Given the description of an element on the screen output the (x, y) to click on. 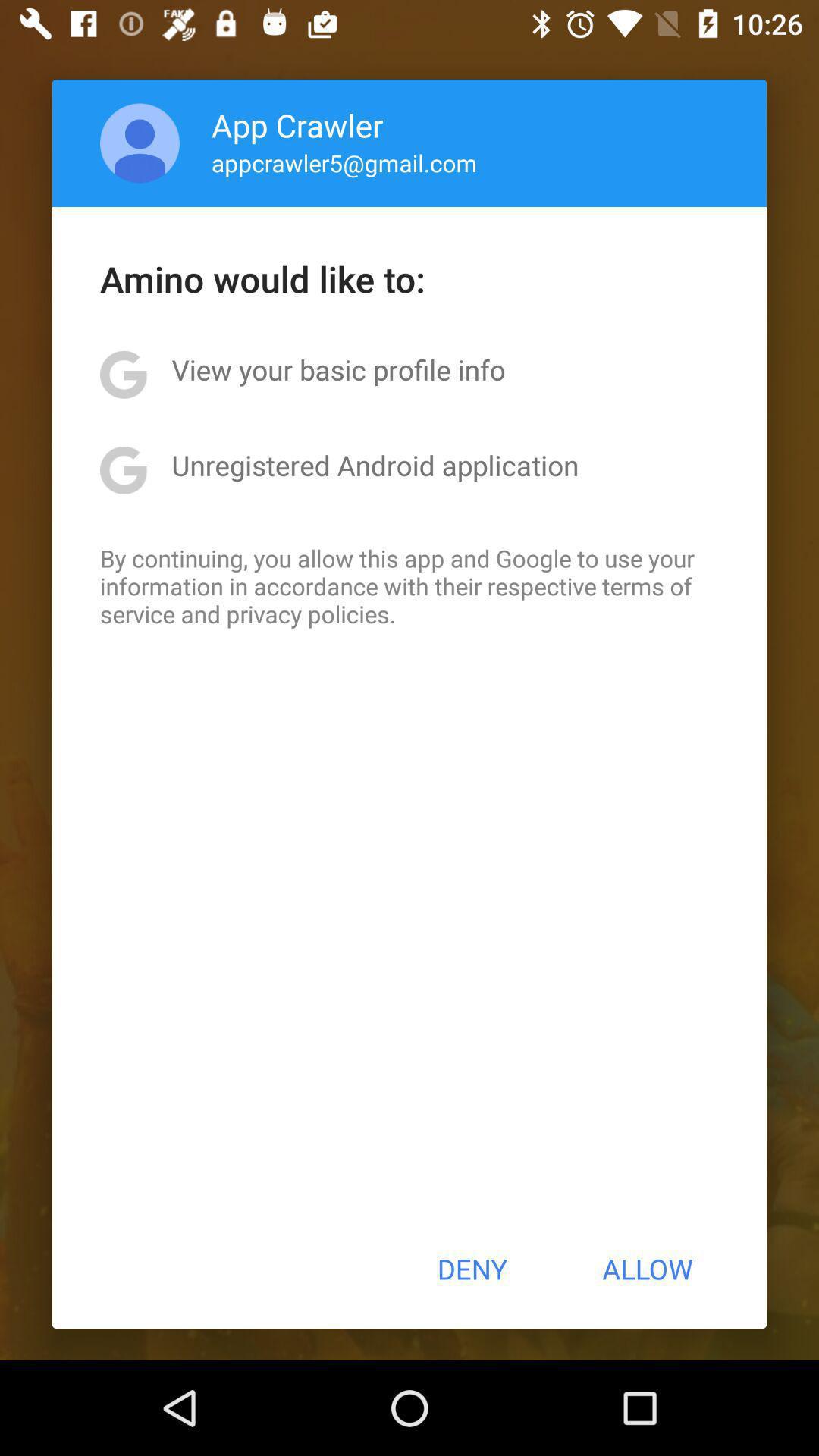
press item above the amino would like (139, 143)
